Given the description of an element on the screen output the (x, y) to click on. 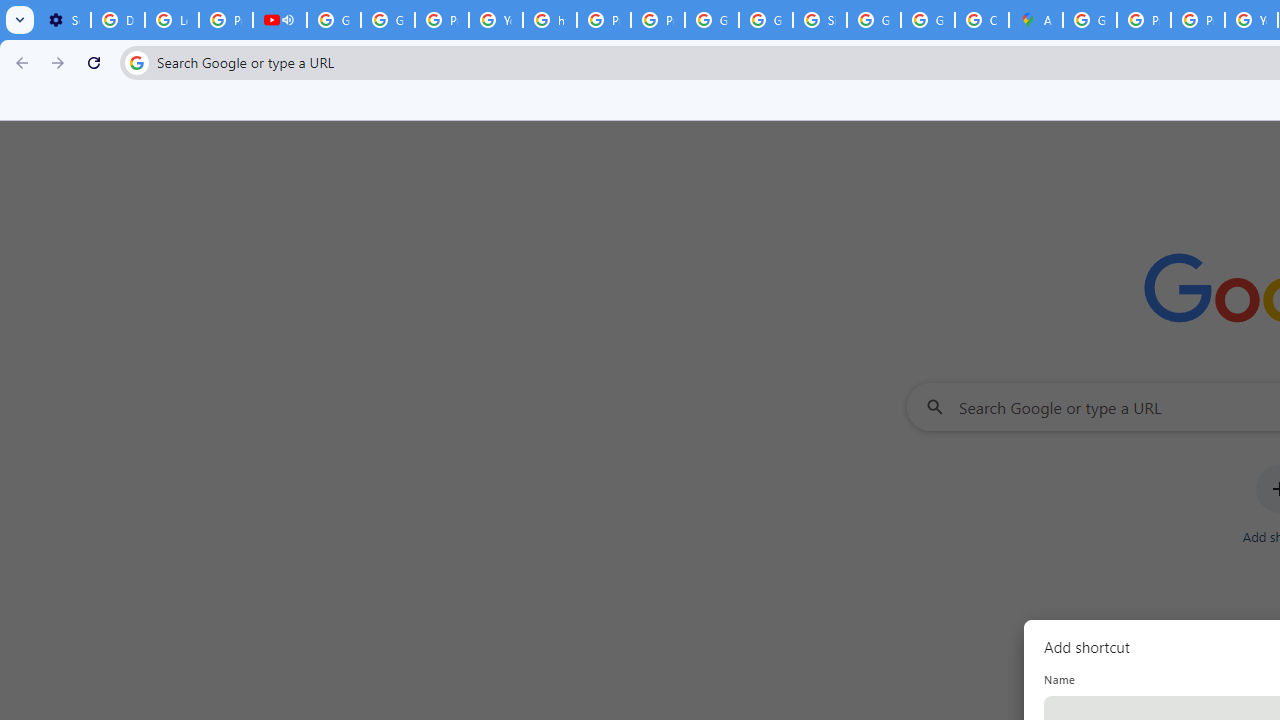
Mute tab (287, 20)
Privacy Help Center - Policies Help (1144, 20)
Google Account Help (333, 20)
https://scholar.google.com/ (550, 20)
Privacy Help Center - Policies Help (604, 20)
Privacy Help Center - Policies Help (1197, 20)
Sign in - Google Accounts (819, 20)
